Given the description of an element on the screen output the (x, y) to click on. 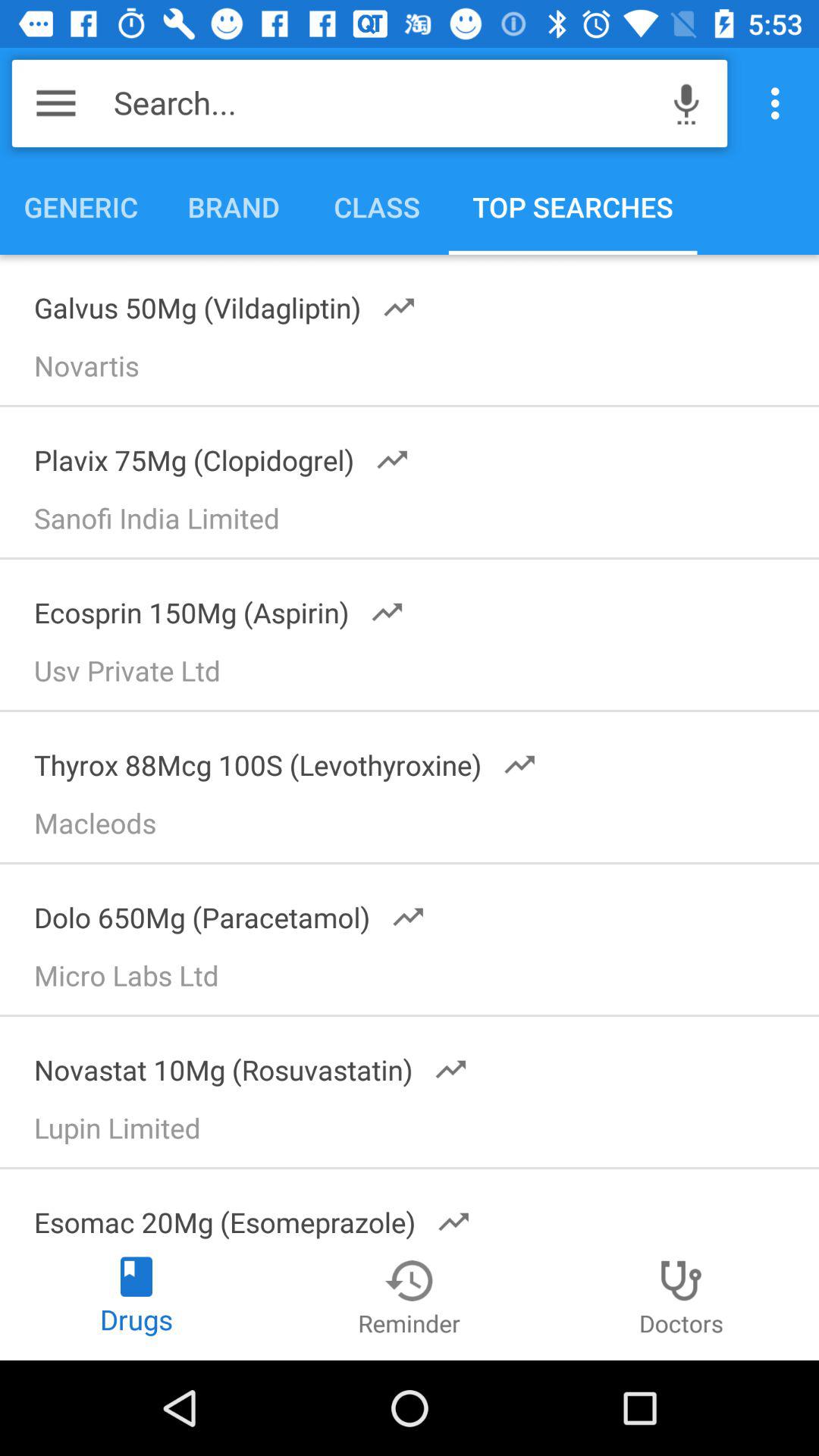
press the thyrox 88mcg 100s (275, 759)
